Given the description of an element on the screen output the (x, y) to click on. 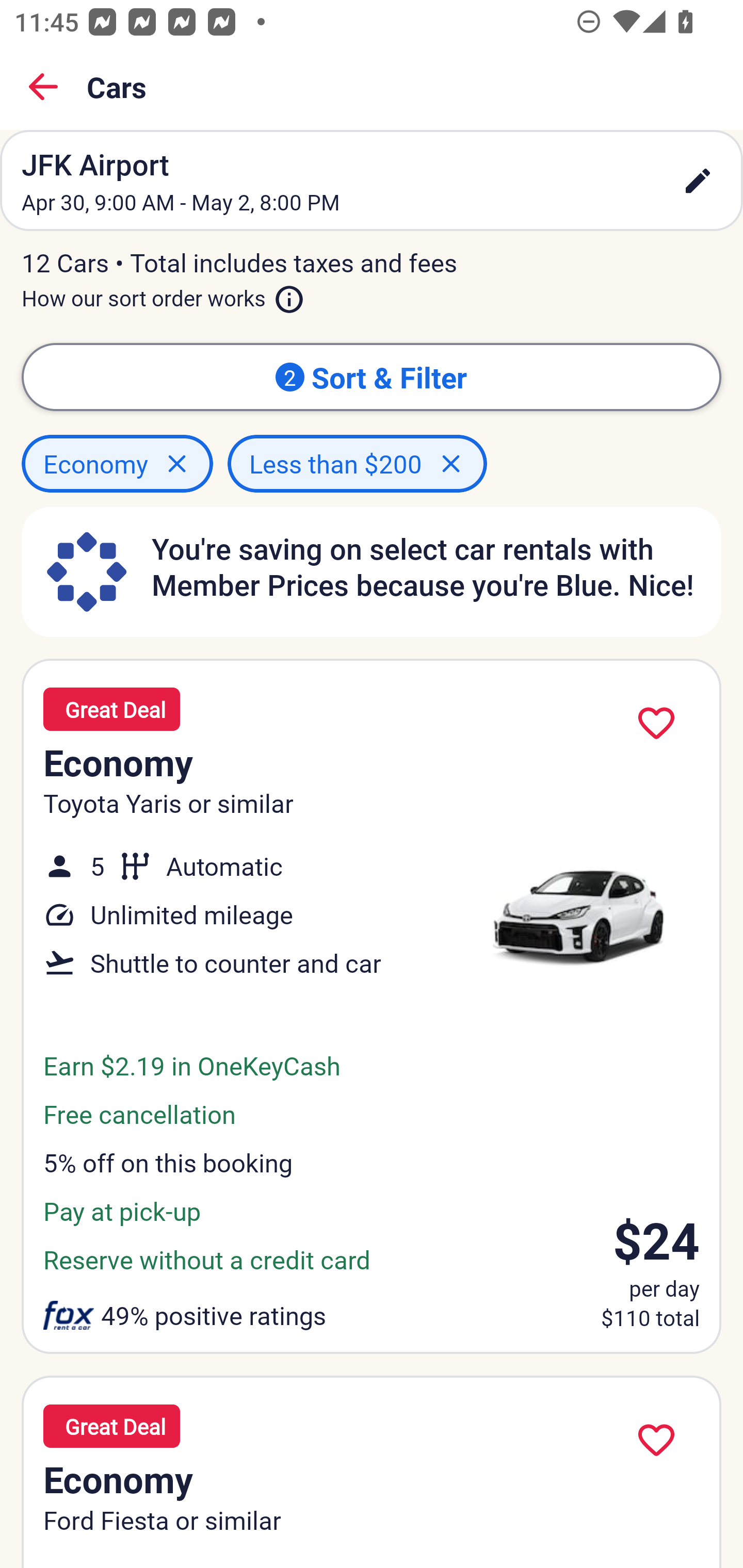
Back (43, 86)
edit (697, 180)
How our sort order works (163, 294)
2 Sort & Filter (371, 376)
